Given the description of an element on the screen output the (x, y) to click on. 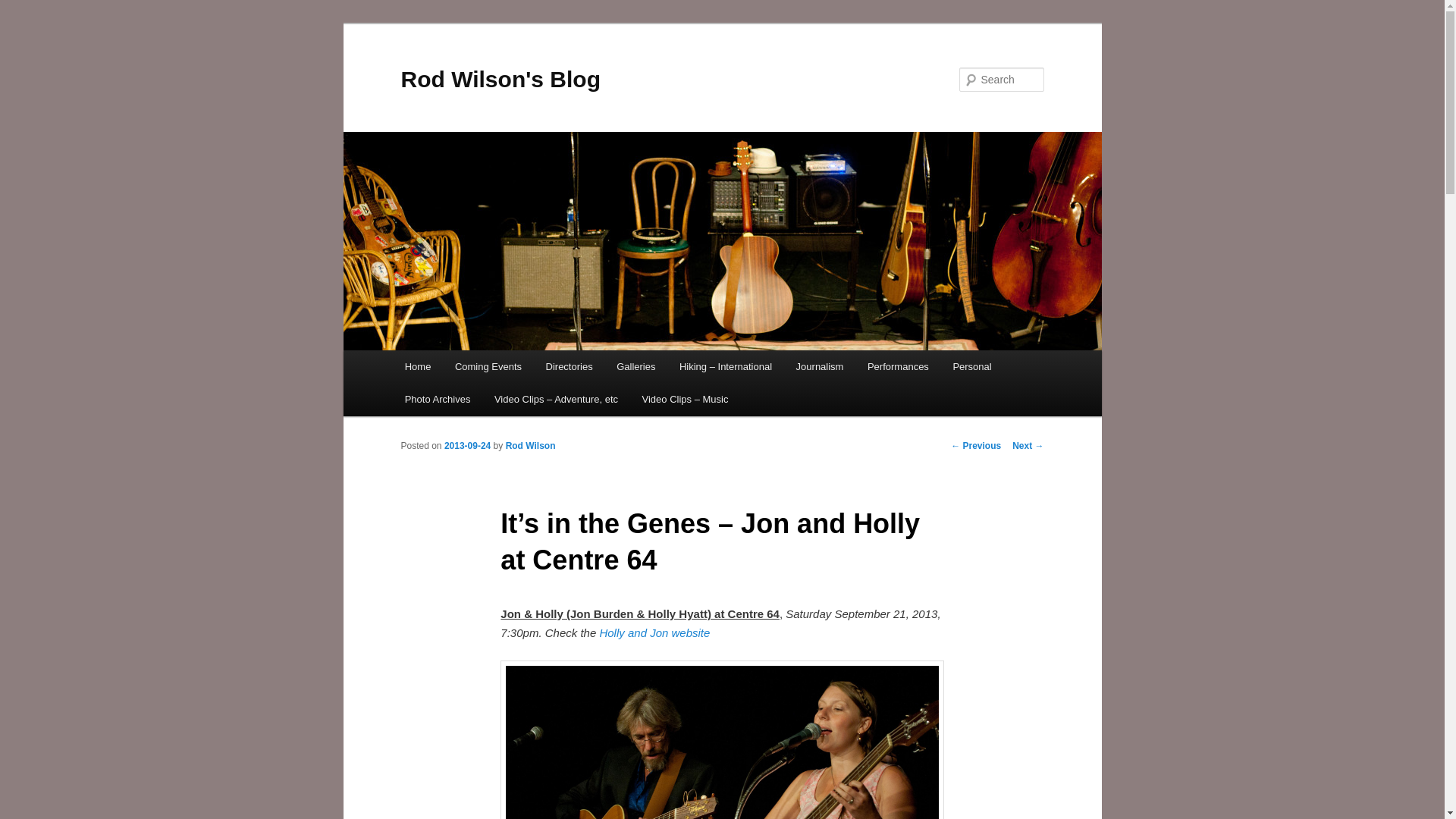
View all posts by Rod Wilson (530, 445)
Search (24, 8)
Directories (569, 366)
Home (417, 366)
Coming Events (488, 366)
Rod Wilson's Blog (499, 78)
7:08 pm (467, 445)
